Given the description of an element on the screen output the (x, y) to click on. 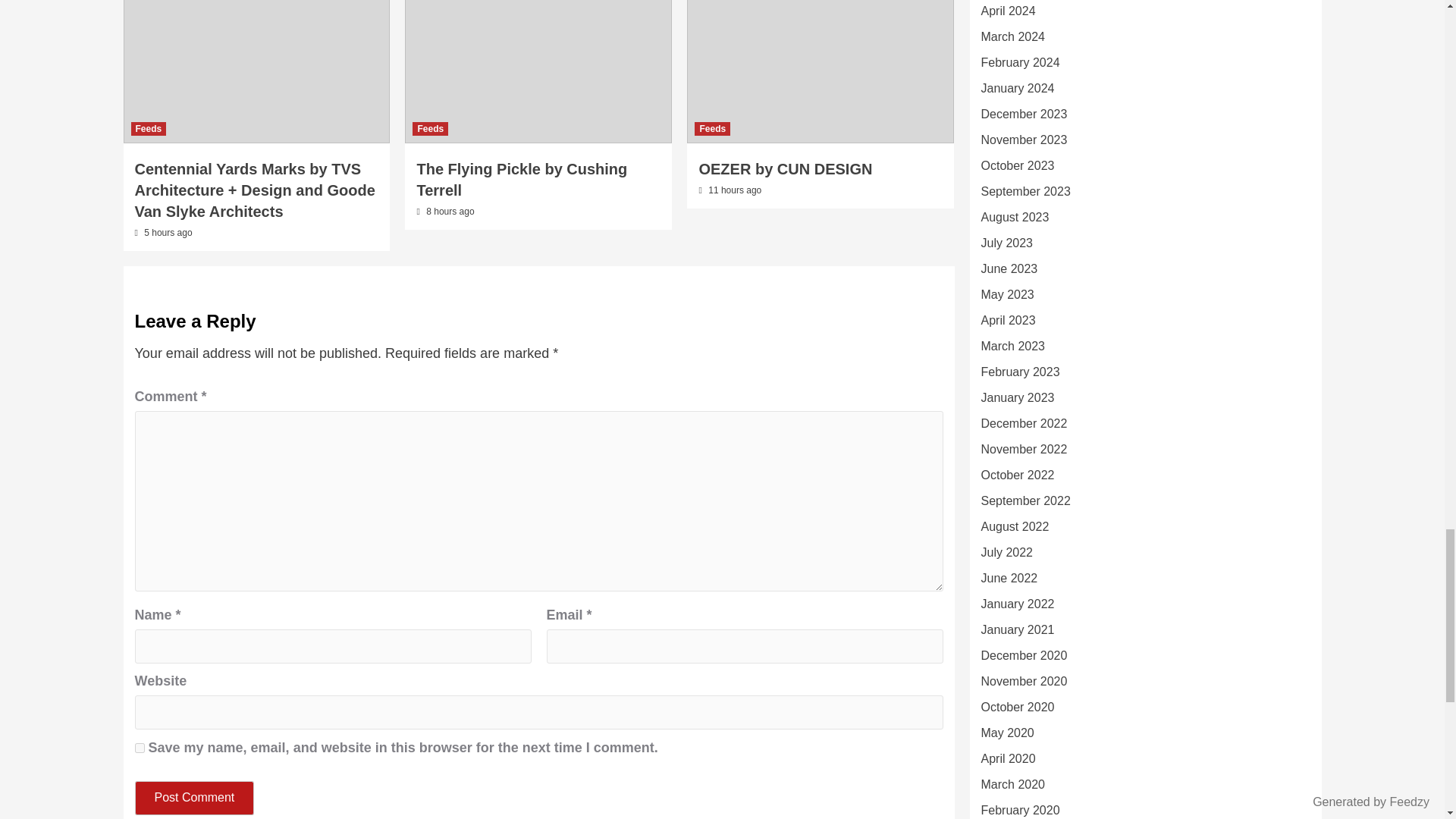
5 hours ago (168, 232)
Feeds (148, 128)
Feeds (712, 128)
Post Comment (194, 797)
The Flying Pickle by Cushing Terrell (521, 179)
yes (139, 747)
11 hours ago (734, 190)
Feeds (430, 128)
OEZER by CUN DESIGN (785, 168)
8 hours ago (450, 211)
